Given the description of an element on the screen output the (x, y) to click on. 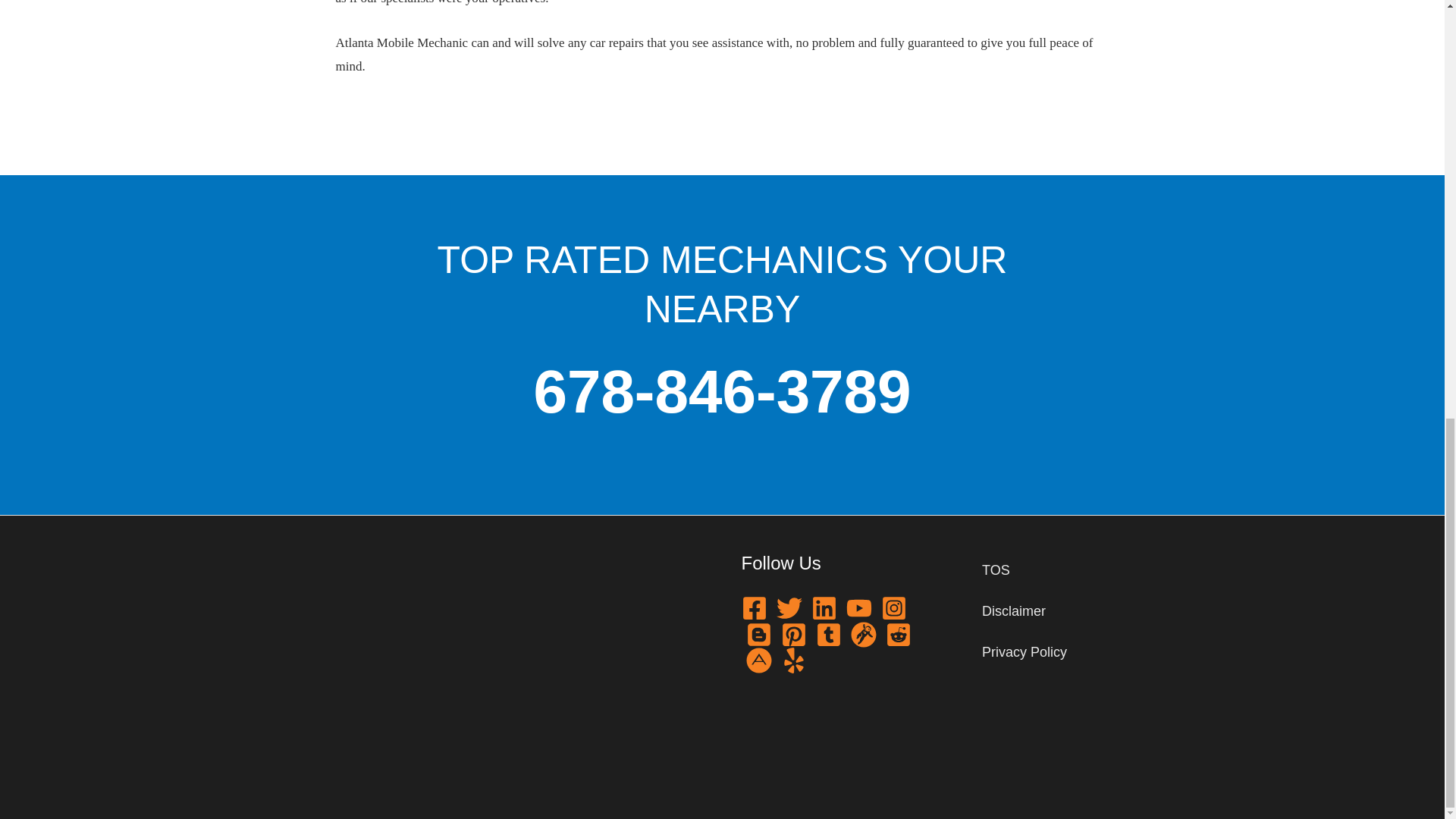
678-846-3789 (721, 391)
